Given the description of an element on the screen output the (x, y) to click on. 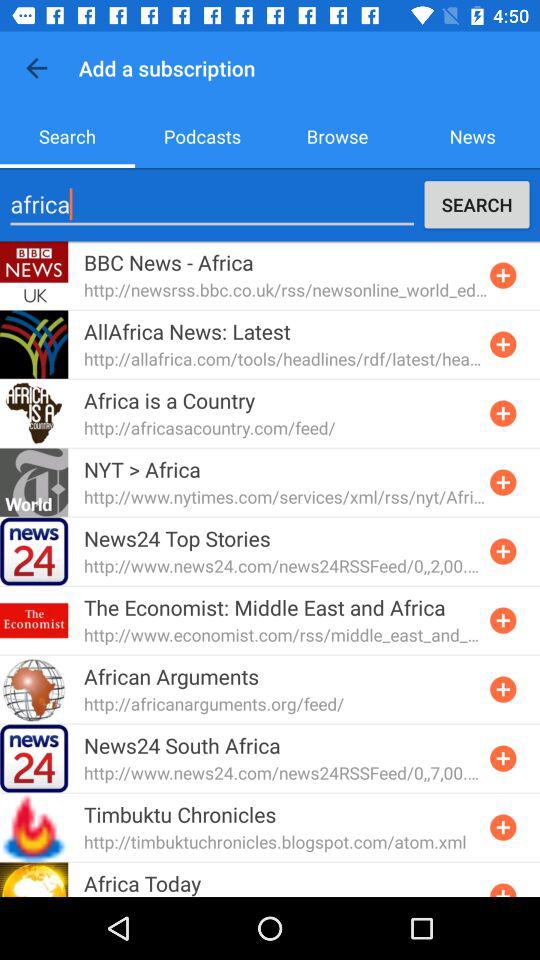
tap the item below the http www news24 icon (264, 607)
